Given the description of an element on the screen output the (x, y) to click on. 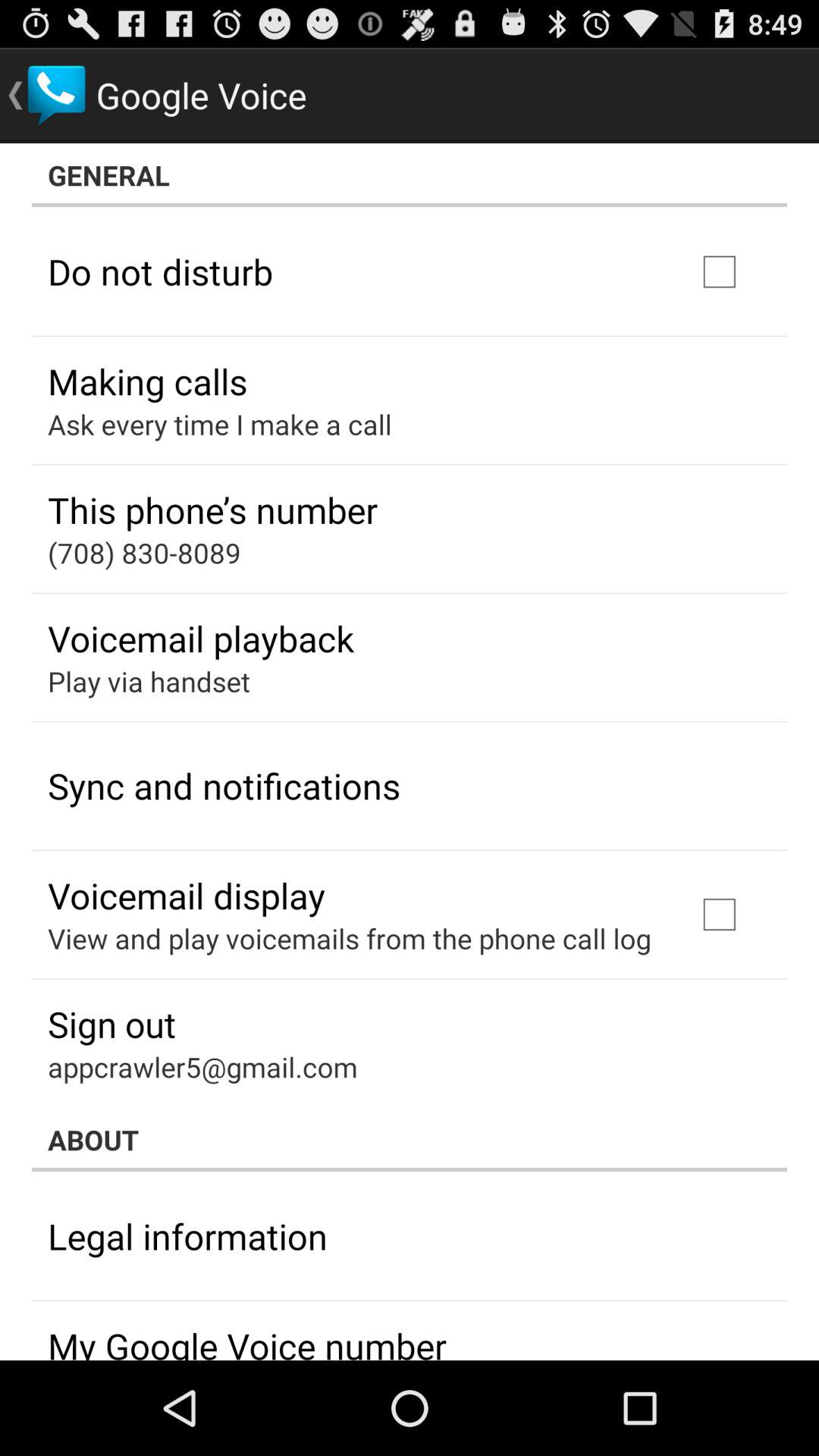
open item above the this phone s item (219, 424)
